Given the description of an element on the screen output the (x, y) to click on. 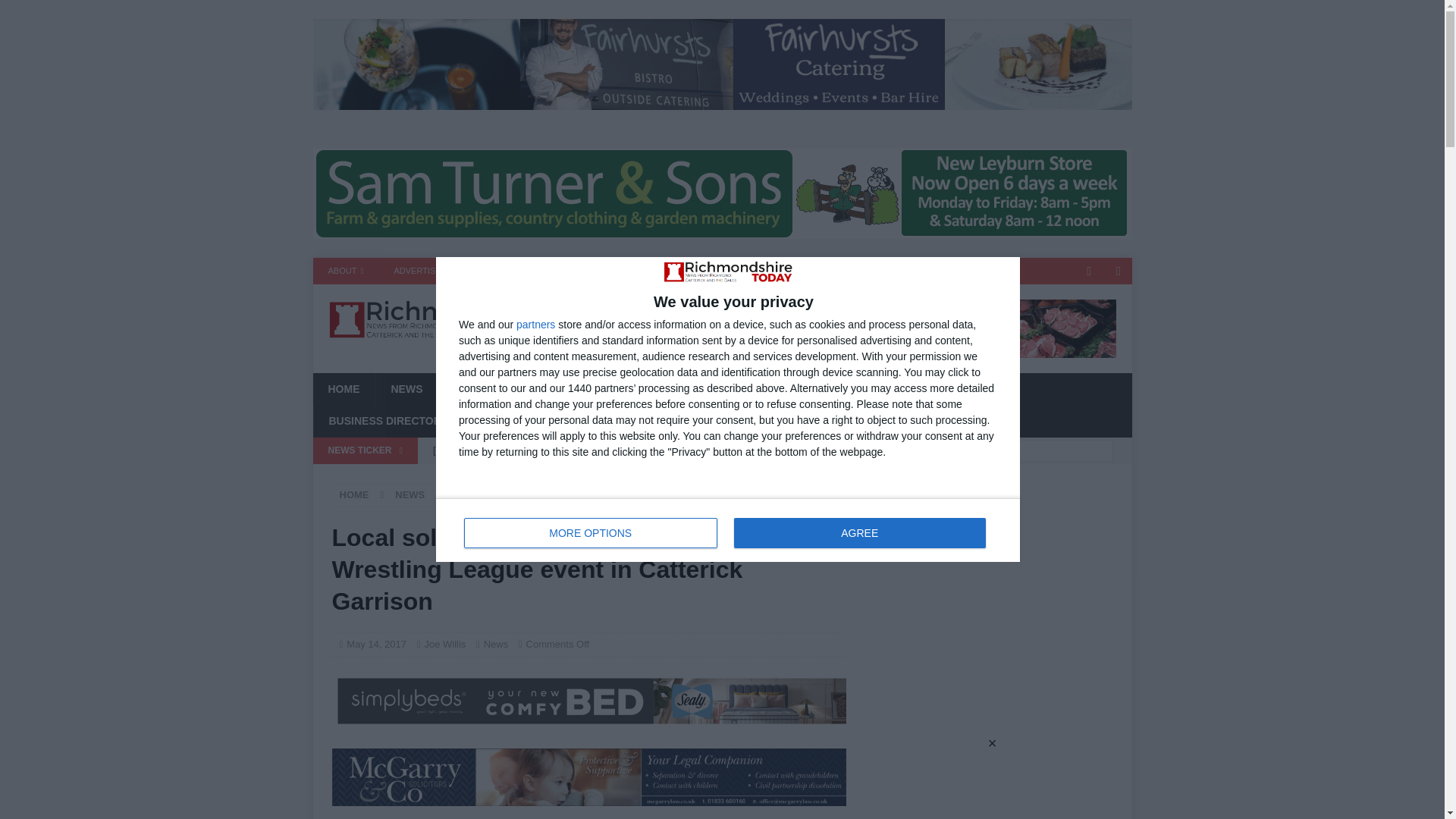
CONTACT (491, 270)
VACANCY: Artistic director for the Swaledale Festival (727, 529)
MAGAZINE (634, 450)
ADVERTISE (566, 270)
partners (416, 270)
MORE OPTIONS (535, 324)
AGREE (590, 532)
ABOUT (859, 532)
Utility companies set to be charged for daytime roadworks (345, 270)
